Given the description of an element on the screen output the (x, y) to click on. 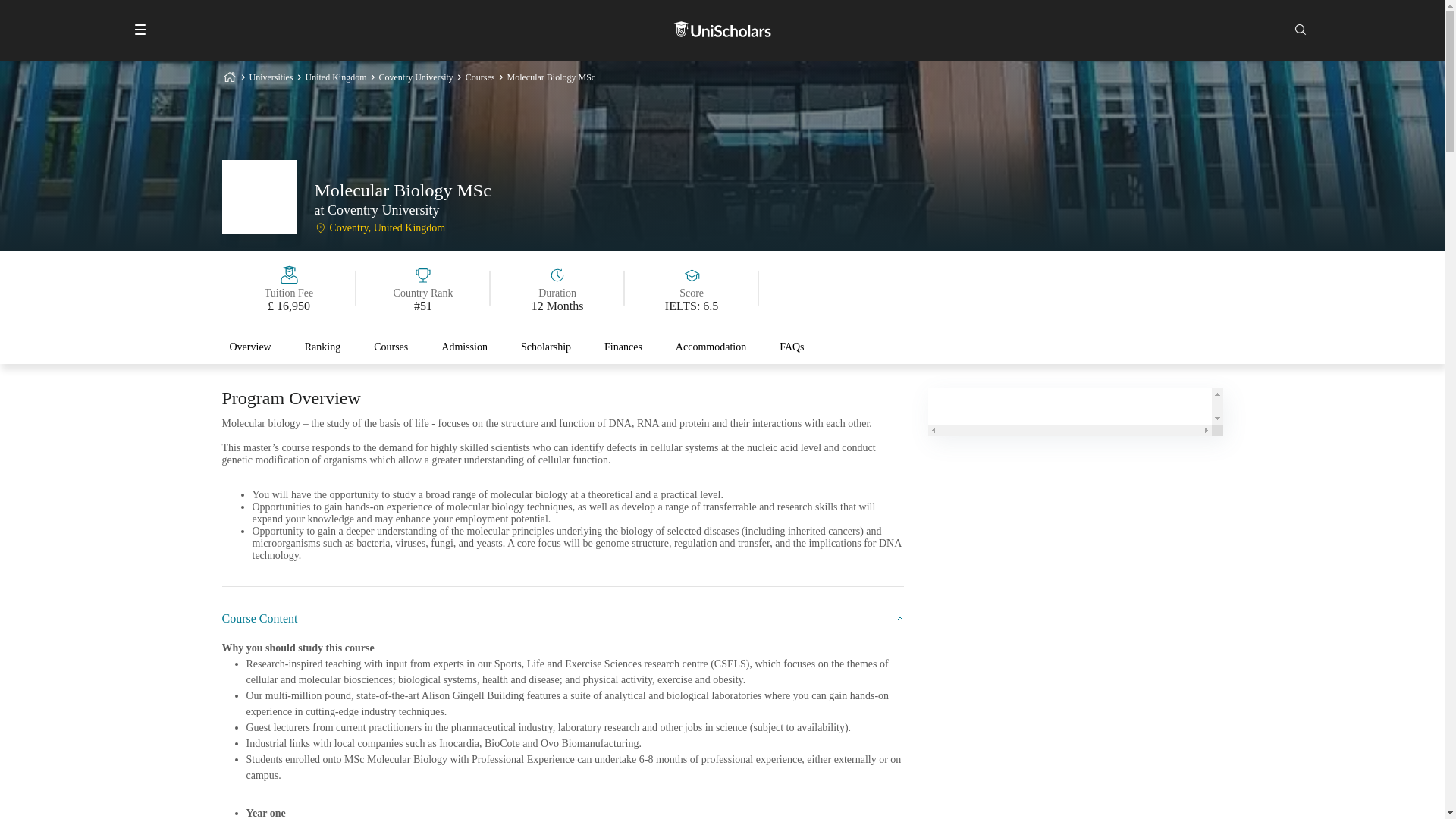
Courses (390, 346)
Overview (249, 346)
Courses (390, 351)
United Kingdom (335, 76)
Overview (249, 351)
Courses (390, 346)
Scholarship (545, 346)
Admission (464, 346)
Ranking (322, 351)
Finances (623, 346)
